Given the description of an element on the screen output the (x, y) to click on. 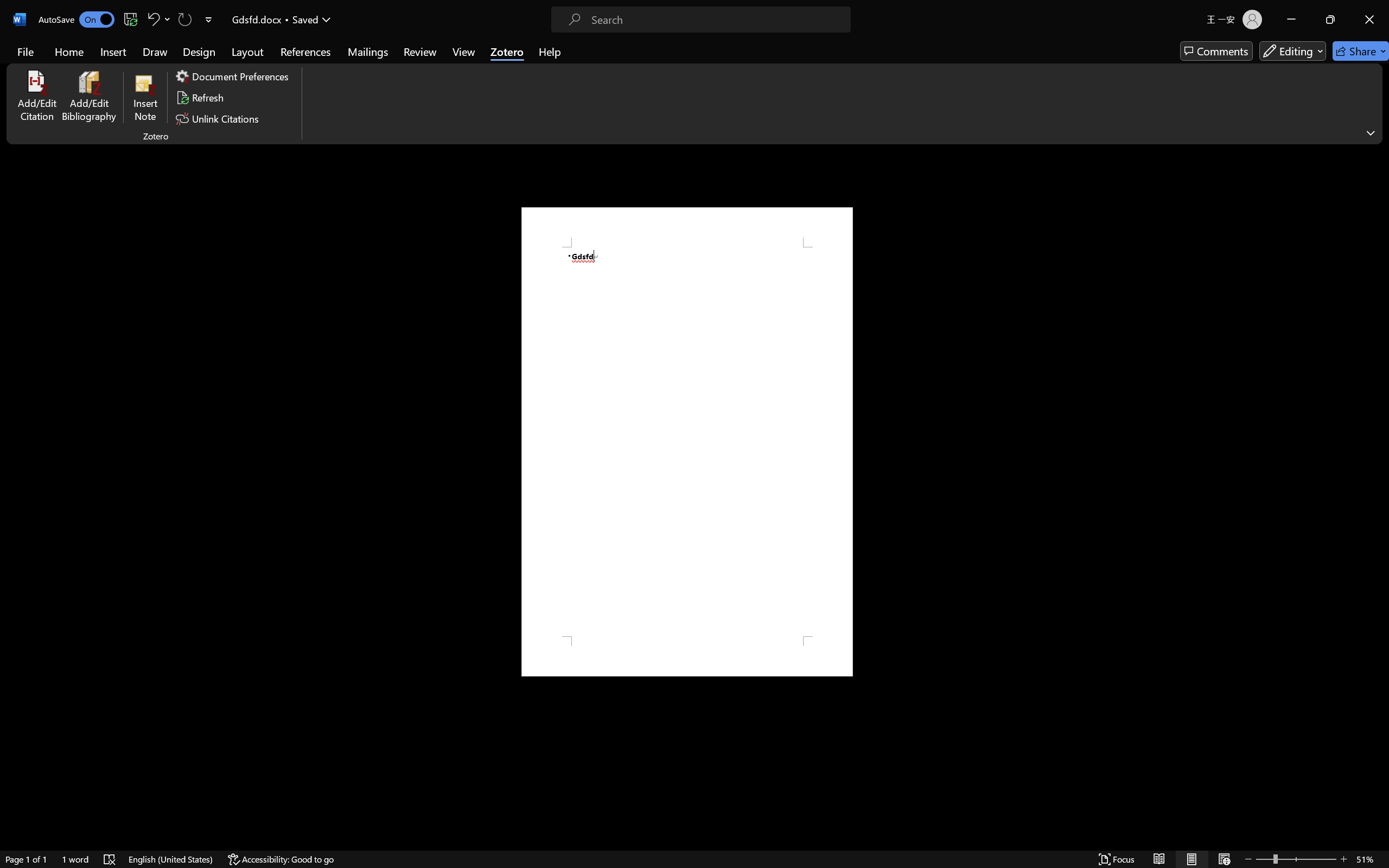
PowerPoint - 1 running window (356, 855)
Show desktop (1387, 855)
Clear Recording (224, 62)
Tray Input Indicator - Chinese (Simplified, China) (1315, 855)
Shape Format (451, 29)
Export to Video (317, 62)
Fit (660, 392)
Percent (727, 391)
